Given the description of an element on the screen output the (x, y) to click on. 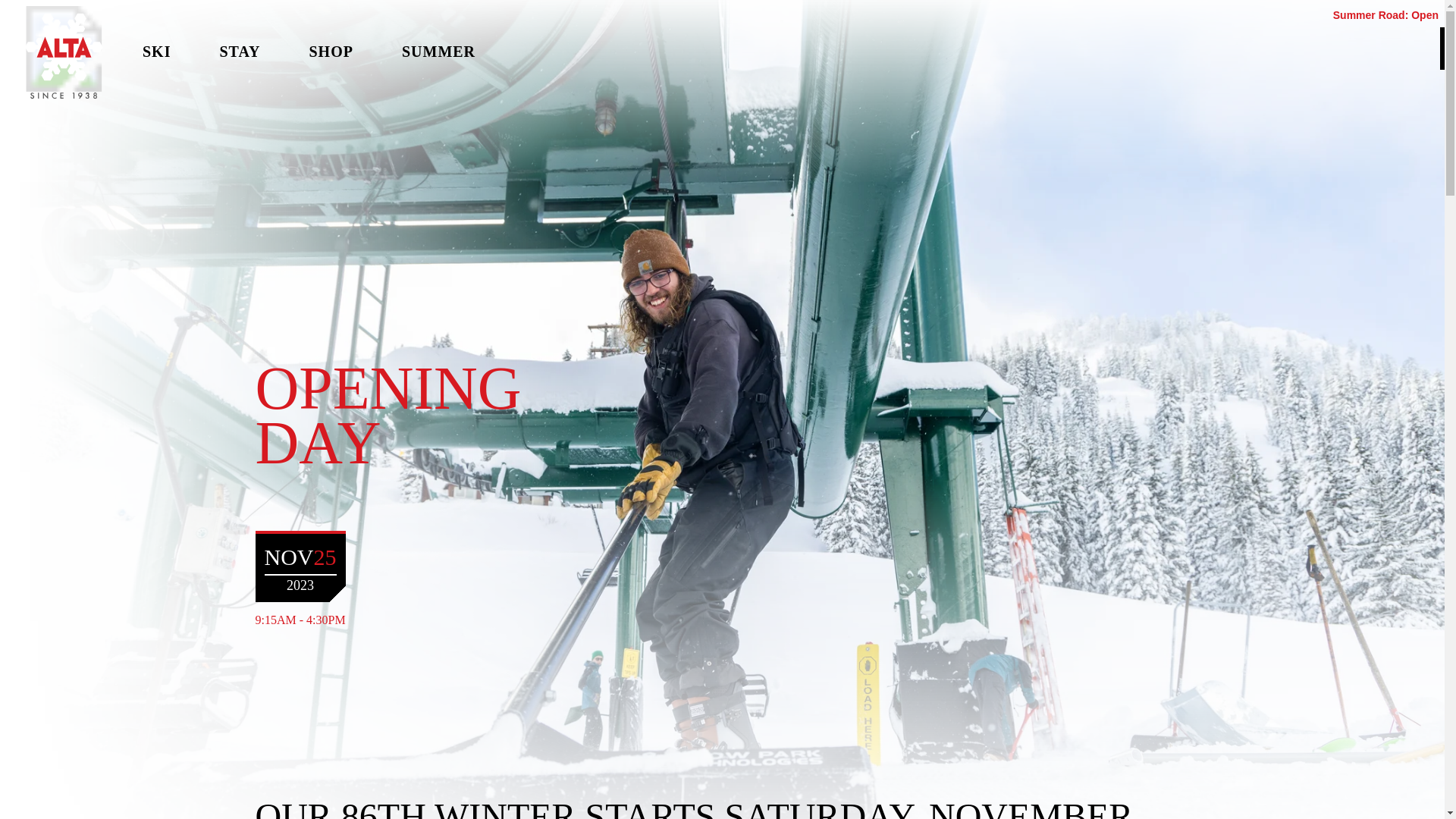
STAY (239, 51)
SHOP (331, 51)
SKI (156, 51)
